Given the description of an element on the screen output the (x, y) to click on. 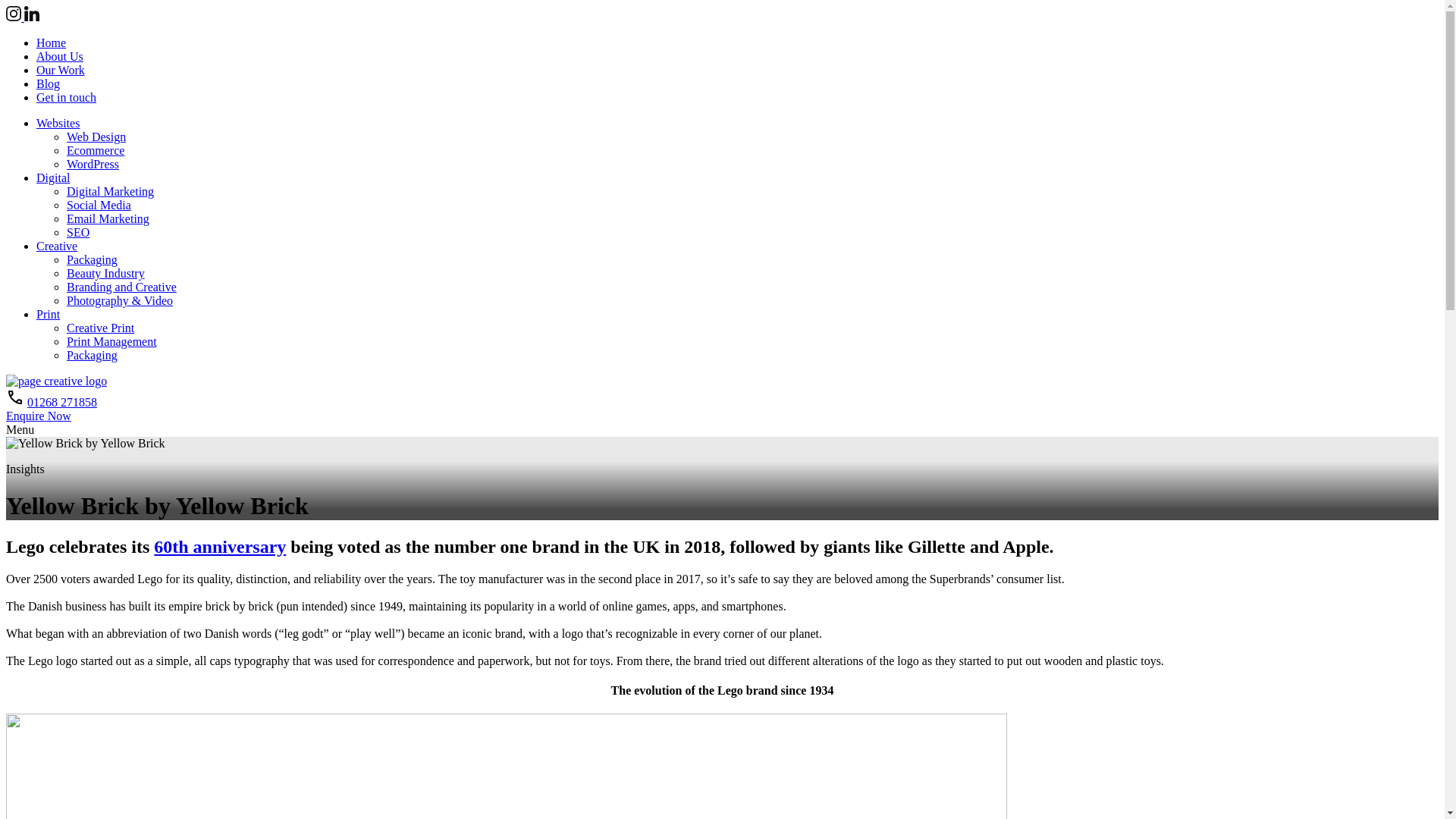
Websites (58, 123)
Yellow Brick by Yellow Brick (85, 443)
Digital Marketing (110, 191)
WordPress (92, 164)
Branding and Creative (121, 286)
Our Work (60, 69)
01268 271858 (62, 401)
Creative Print (99, 327)
Beauty Industry (105, 273)
Print Management (111, 341)
